Given the description of an element on the screen output the (x, y) to click on. 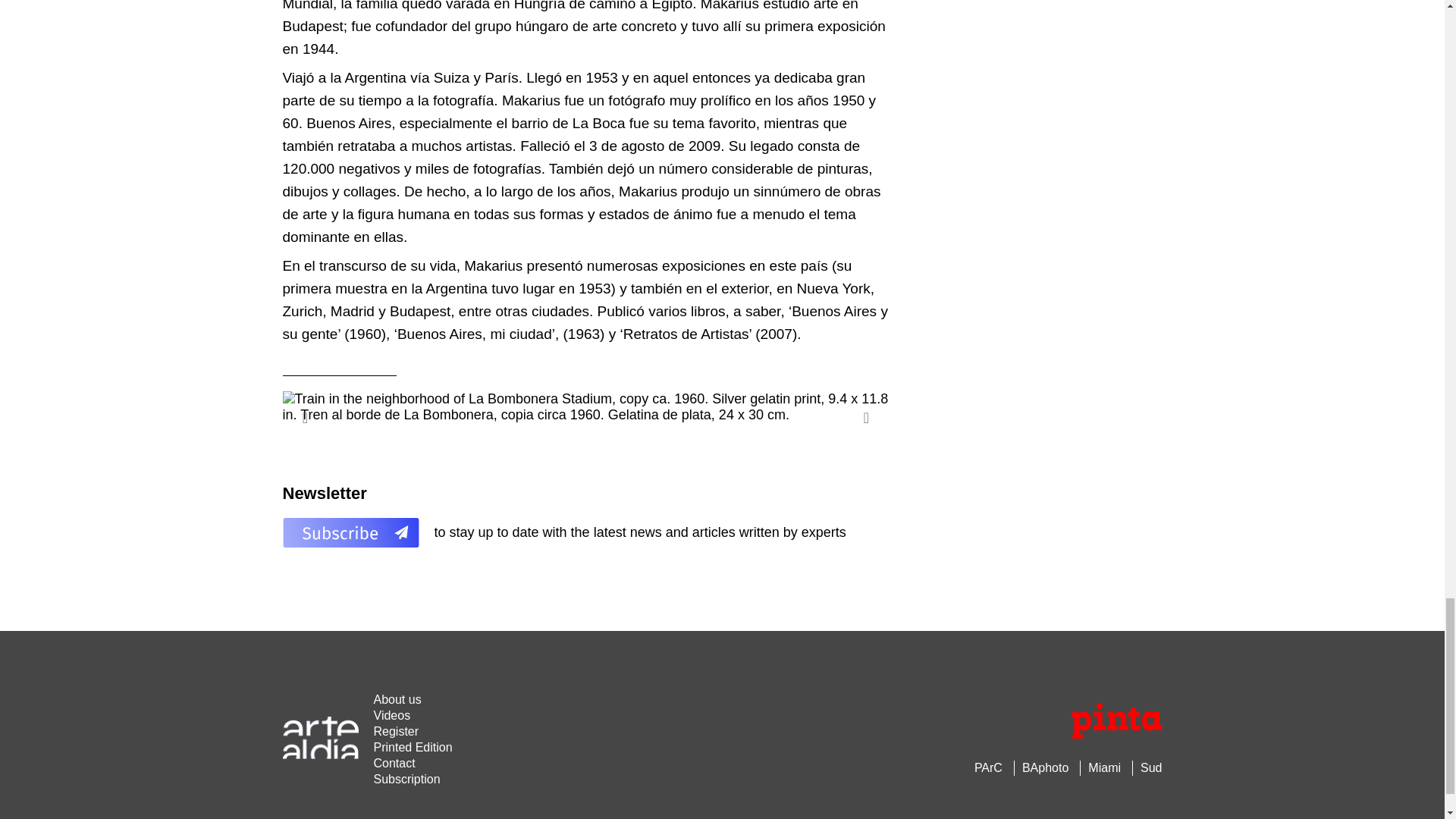
About us (396, 698)
Printed Edition (411, 747)
PArC (988, 767)
Register (395, 730)
Subscription (405, 779)
Contact (393, 762)
Sud (1150, 767)
Videos (391, 715)
Miami (1104, 767)
BAphoto (1045, 767)
